Given the description of an element on the screen output the (x, y) to click on. 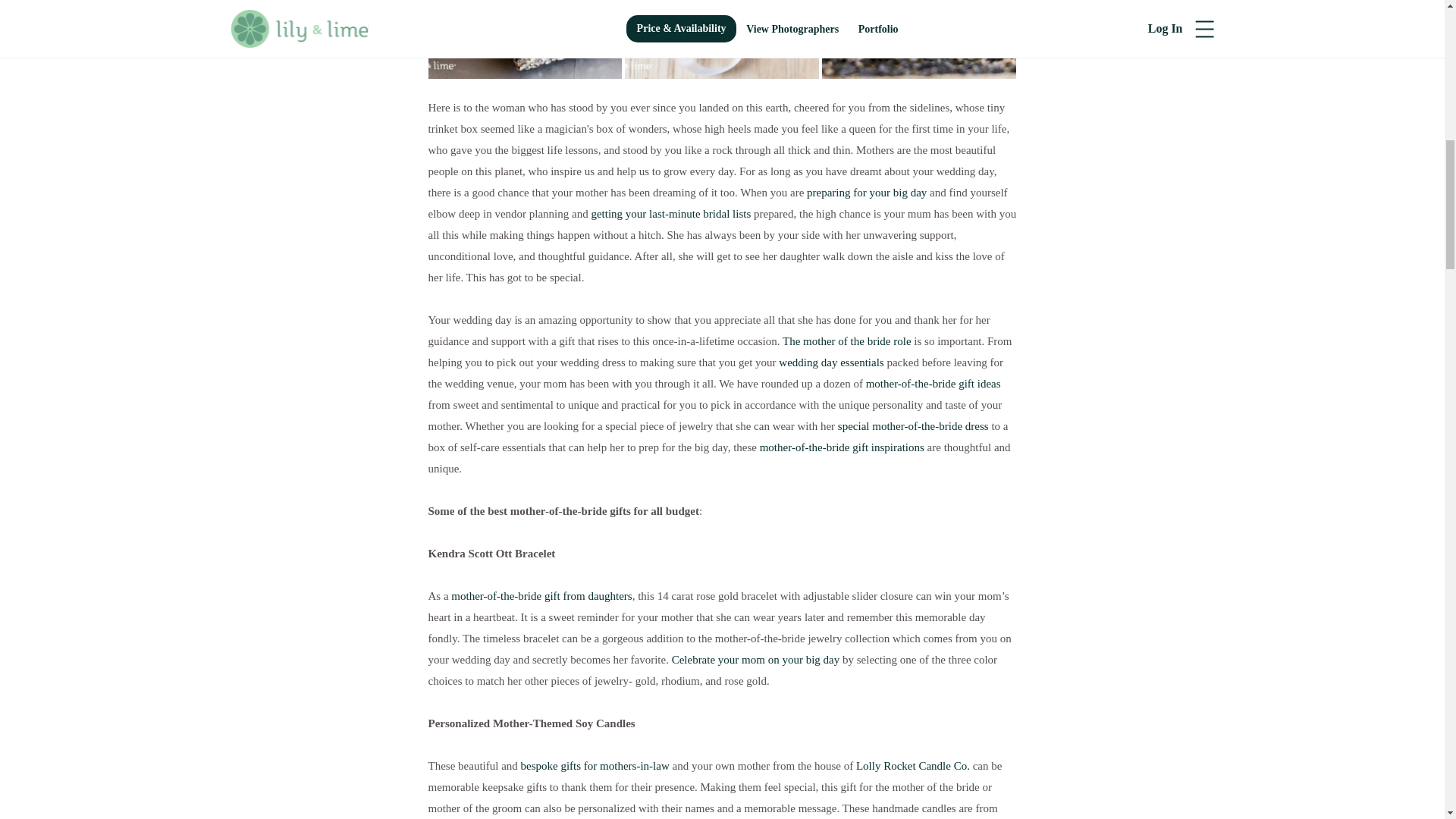
getting your last-minute bridal lists (671, 214)
mother-of-the-bride gift inspirations (840, 447)
preparing for your big day (866, 192)
mother-of-the-bride gift from daughters (541, 595)
The mother of the bride role (847, 340)
Celebrate your mom on your big day (755, 659)
mother-of-the-bride gift ideas (933, 383)
bespoke gifts for mothers-in-law (595, 766)
Lolly Rocket Candle Co. (912, 766)
wedding day essentials (830, 362)
